Given the description of an element on the screen output the (x, y) to click on. 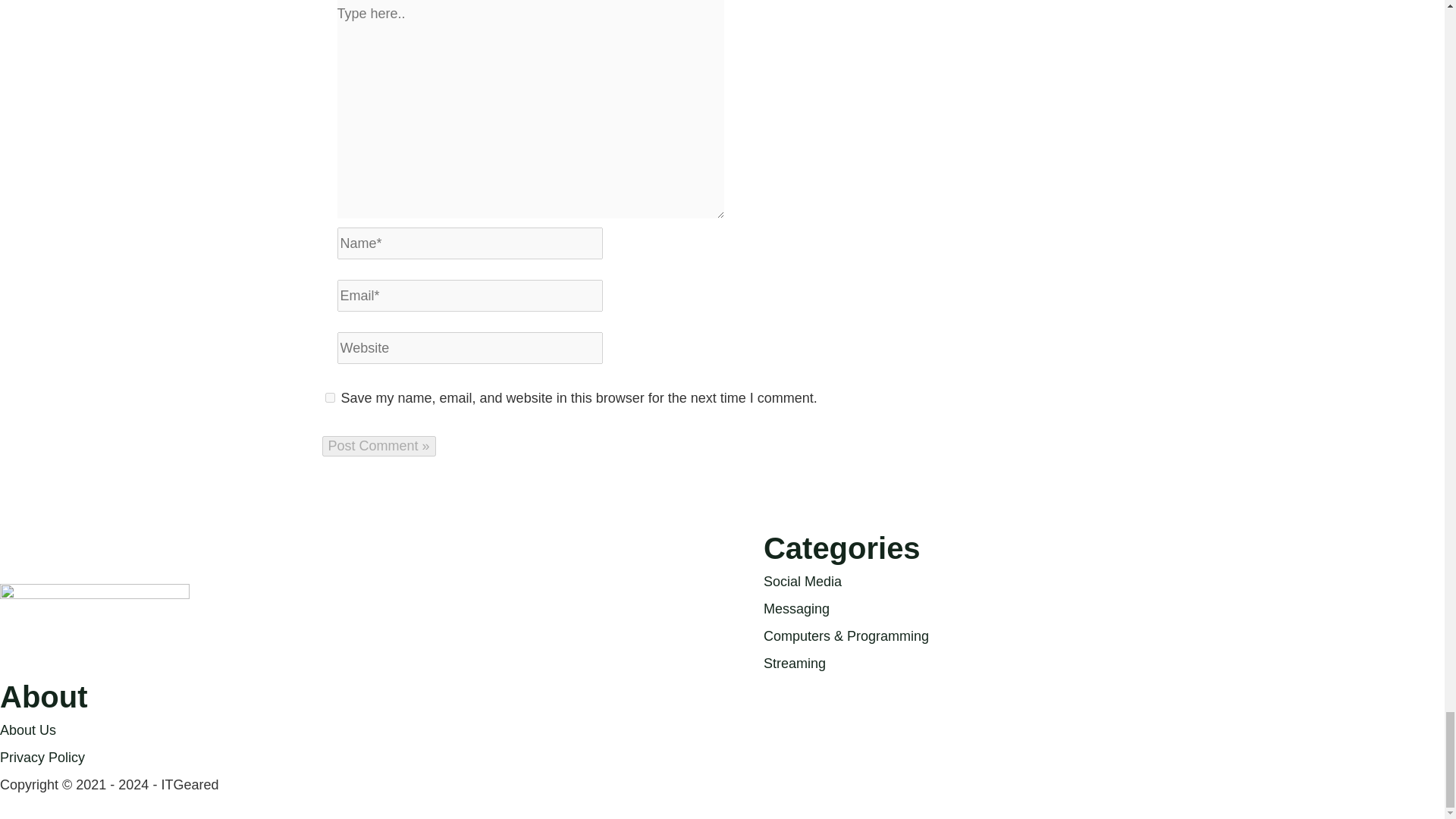
yes (329, 397)
